Given the description of an element on the screen output the (x, y) to click on. 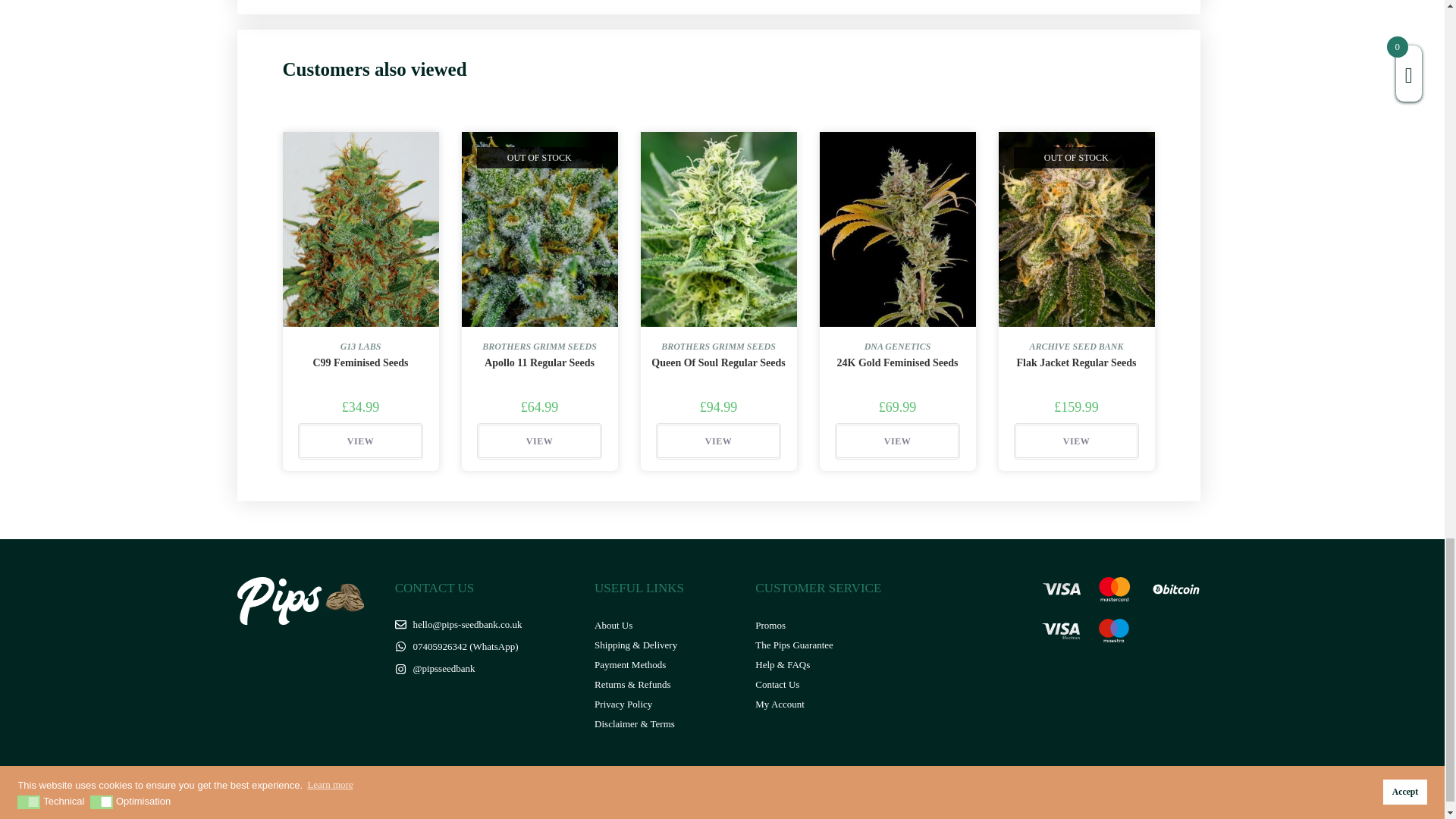
pips-seeds-white-3 (303, 600)
